Given the description of an element on the screen output the (x, y) to click on. 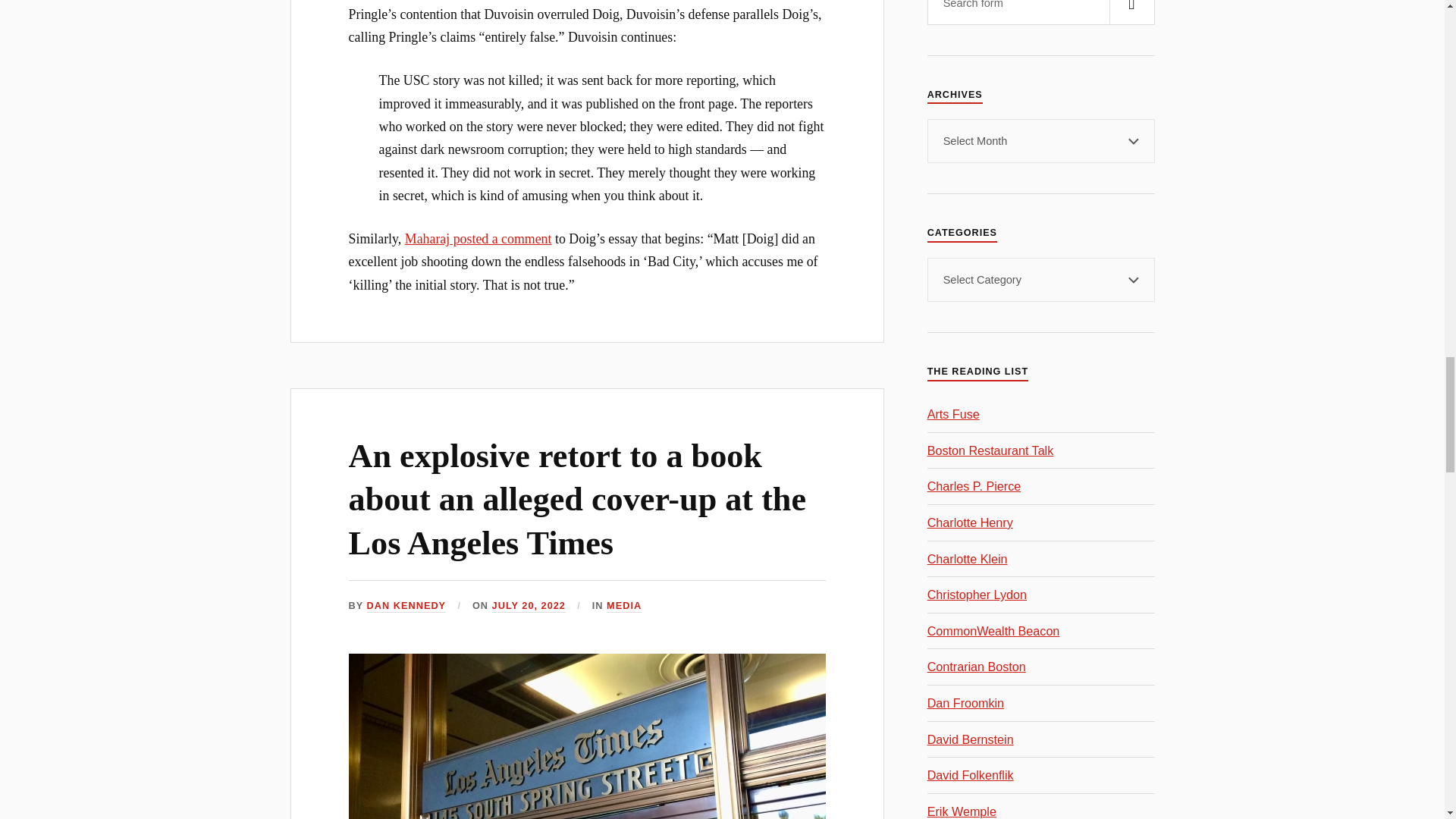
Posts by Dan Kennedy (406, 605)
